Given the description of an element on the screen output the (x, y) to click on. 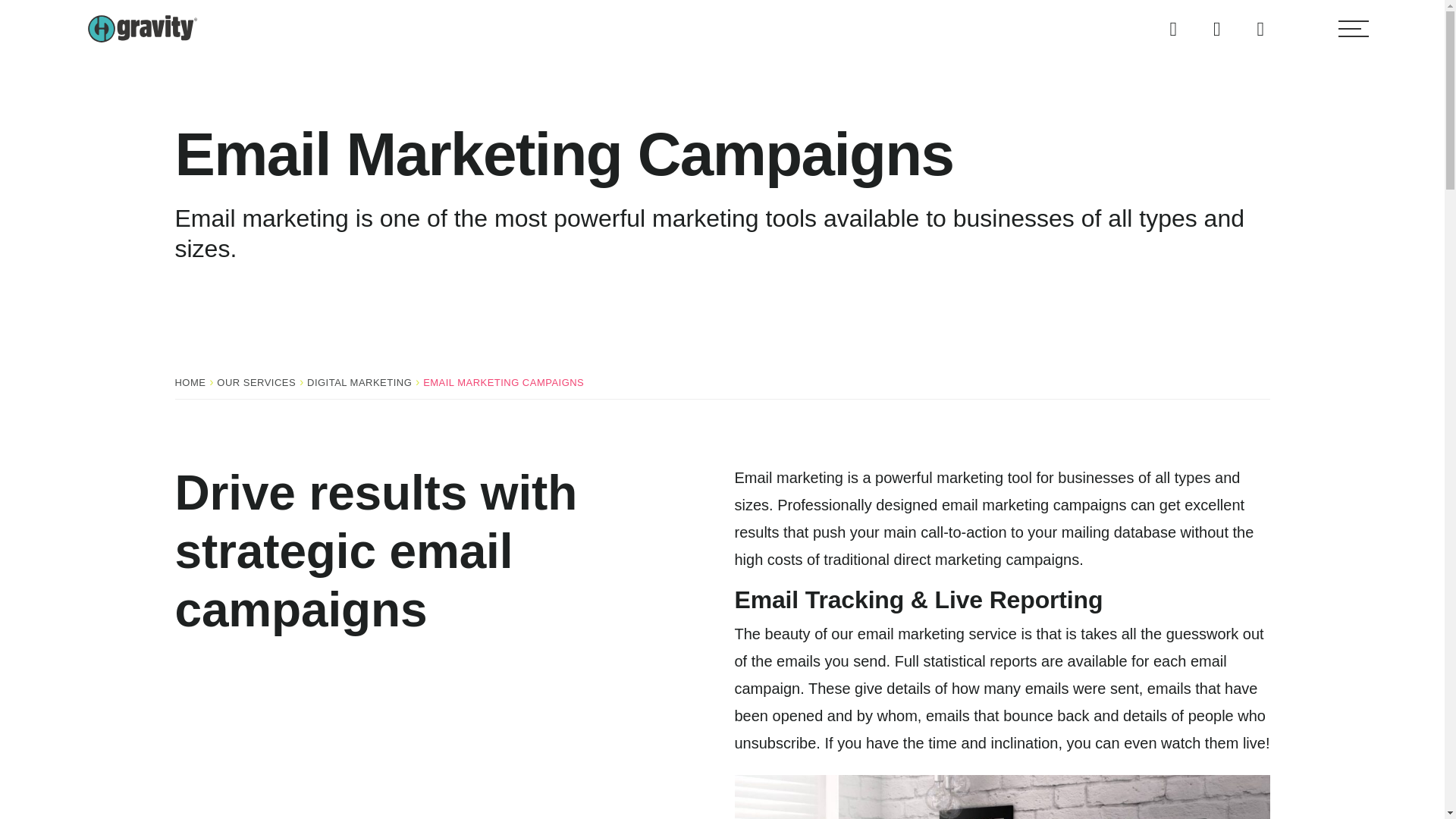
OUR SERVICES (255, 382)
HOME (189, 382)
DIGITAL MARKETING (359, 382)
